Given the description of an element on the screen output the (x, y) to click on. 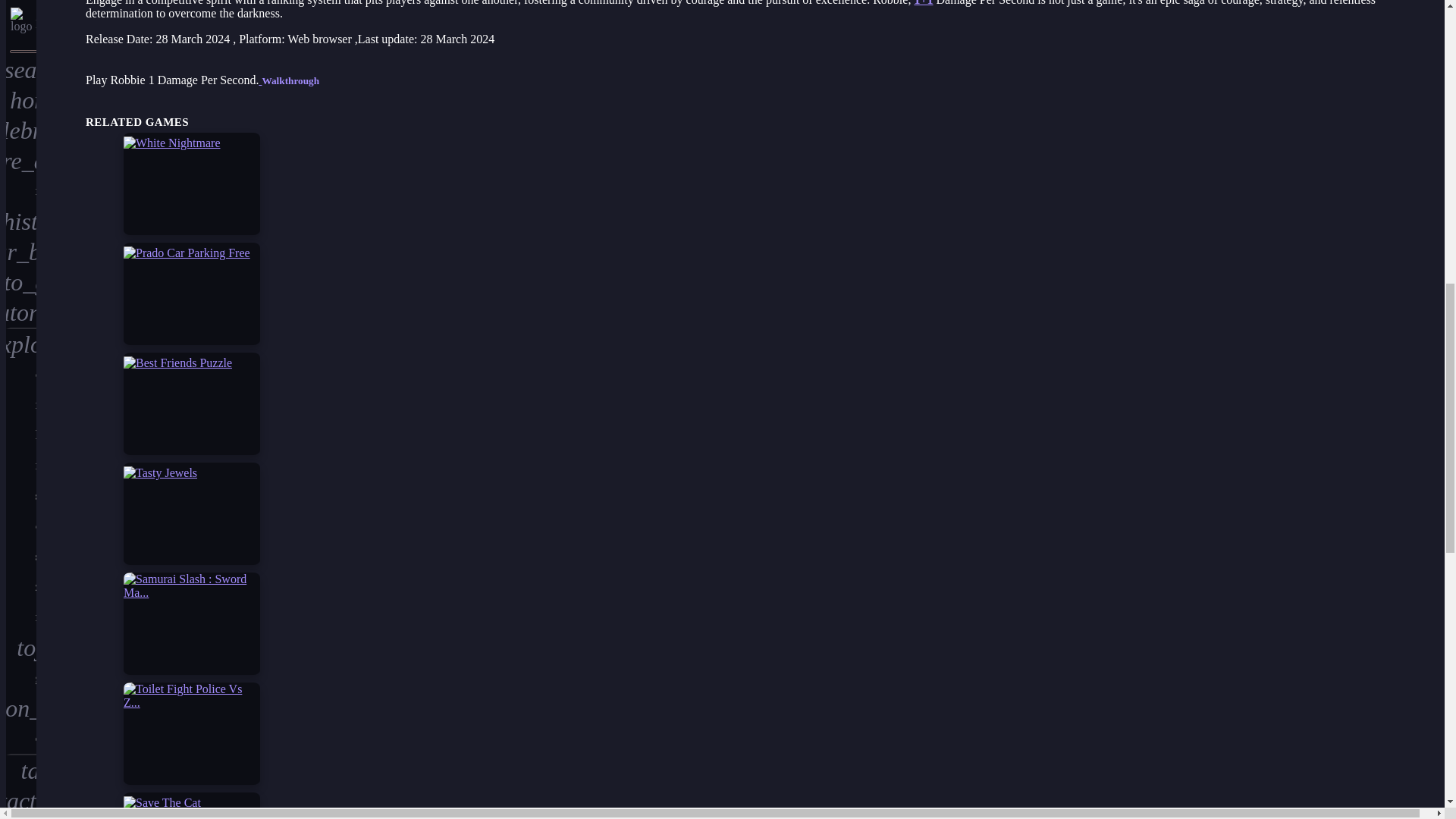
policy (20, 42)
reddit (20, 132)
